Given the description of an element on the screen output the (x, y) to click on. 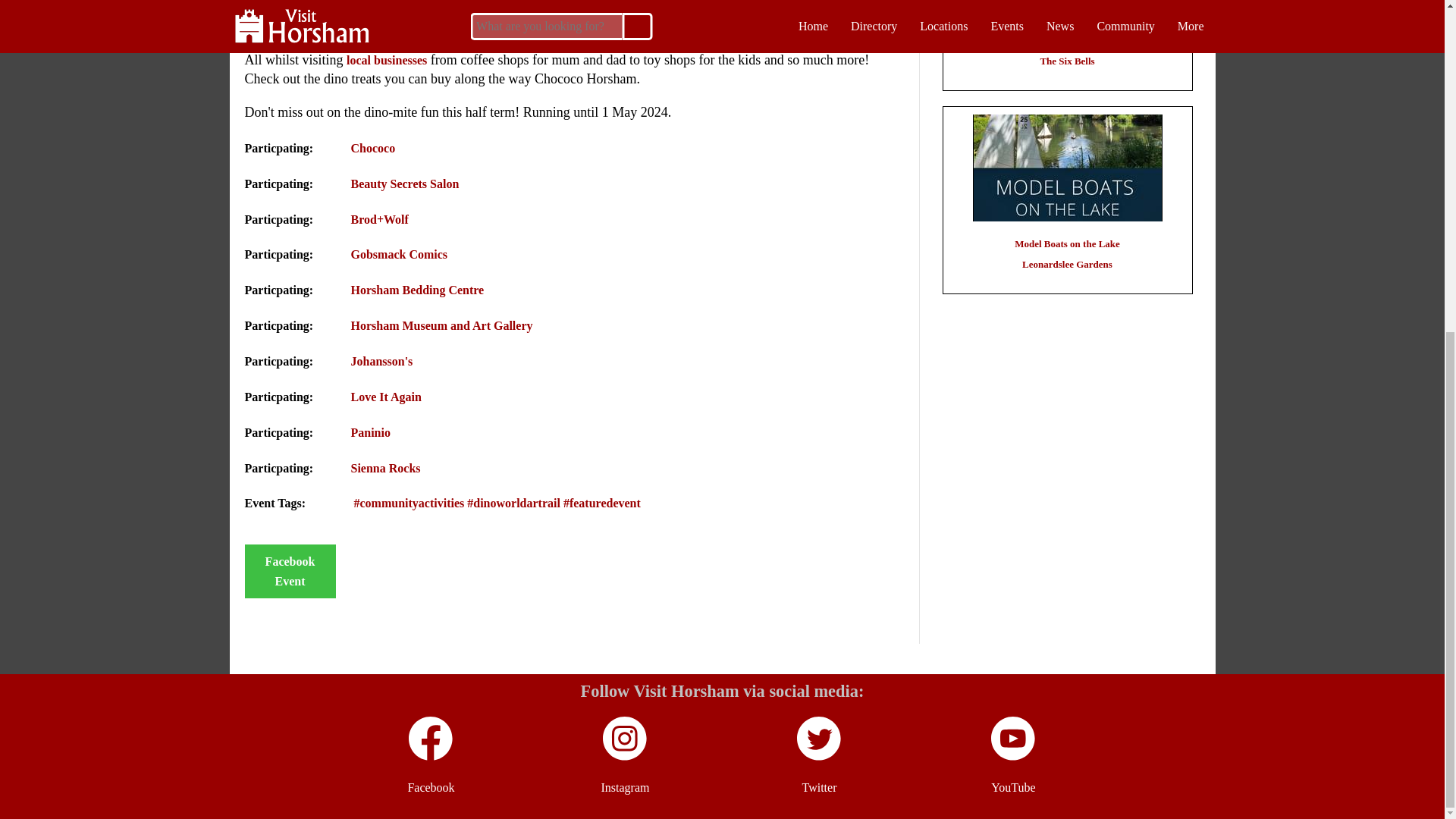
Horsham Museum and Art Gallery (441, 325)
Featured Event (601, 502)
Beauty Secrets Salon (404, 183)
Gobsmack Comics (398, 254)
Love It Again (385, 396)
Horsham Bedding Centre (416, 289)
Horsham Museum and Art Gallery (441, 325)
Chococo (372, 147)
Horsham Bedding Centre (416, 289)
Gobsmack Comics (398, 254)
Horsham Local Businesses (386, 60)
Community Activities (408, 502)
Paninio (370, 431)
Love It Again (385, 396)
Chococo (372, 147)
